Given the description of an element on the screen output the (x, y) to click on. 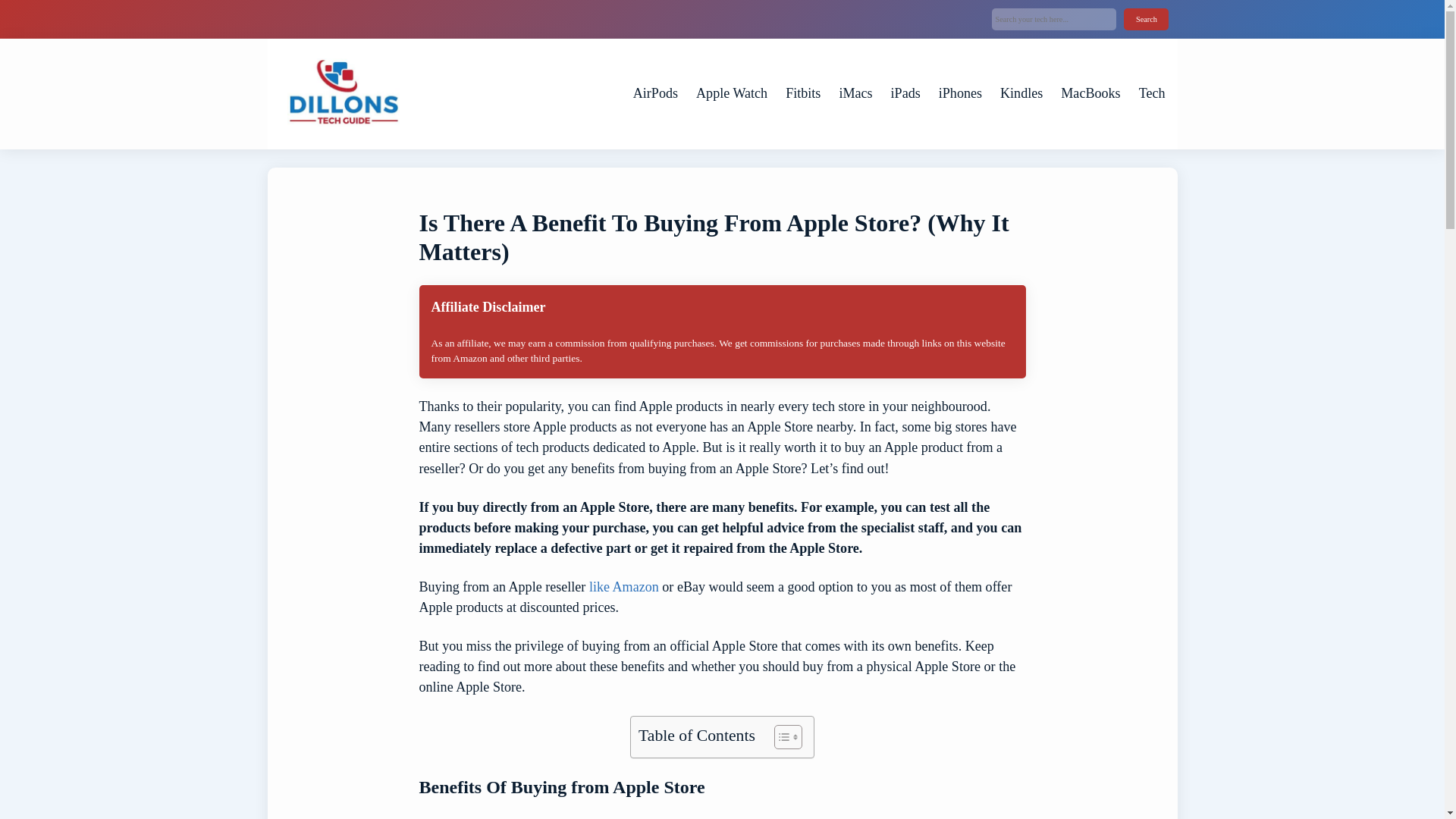
Fitbits (803, 93)
iPads (905, 93)
Kindles (1021, 93)
Apple Watch (731, 93)
iMacs (855, 93)
iPhones (960, 93)
like Amazon (624, 586)
MacBooks (1090, 93)
Tech (1152, 93)
AirPods (655, 93)
Search (1146, 19)
